Given the description of an element on the screen output the (x, y) to click on. 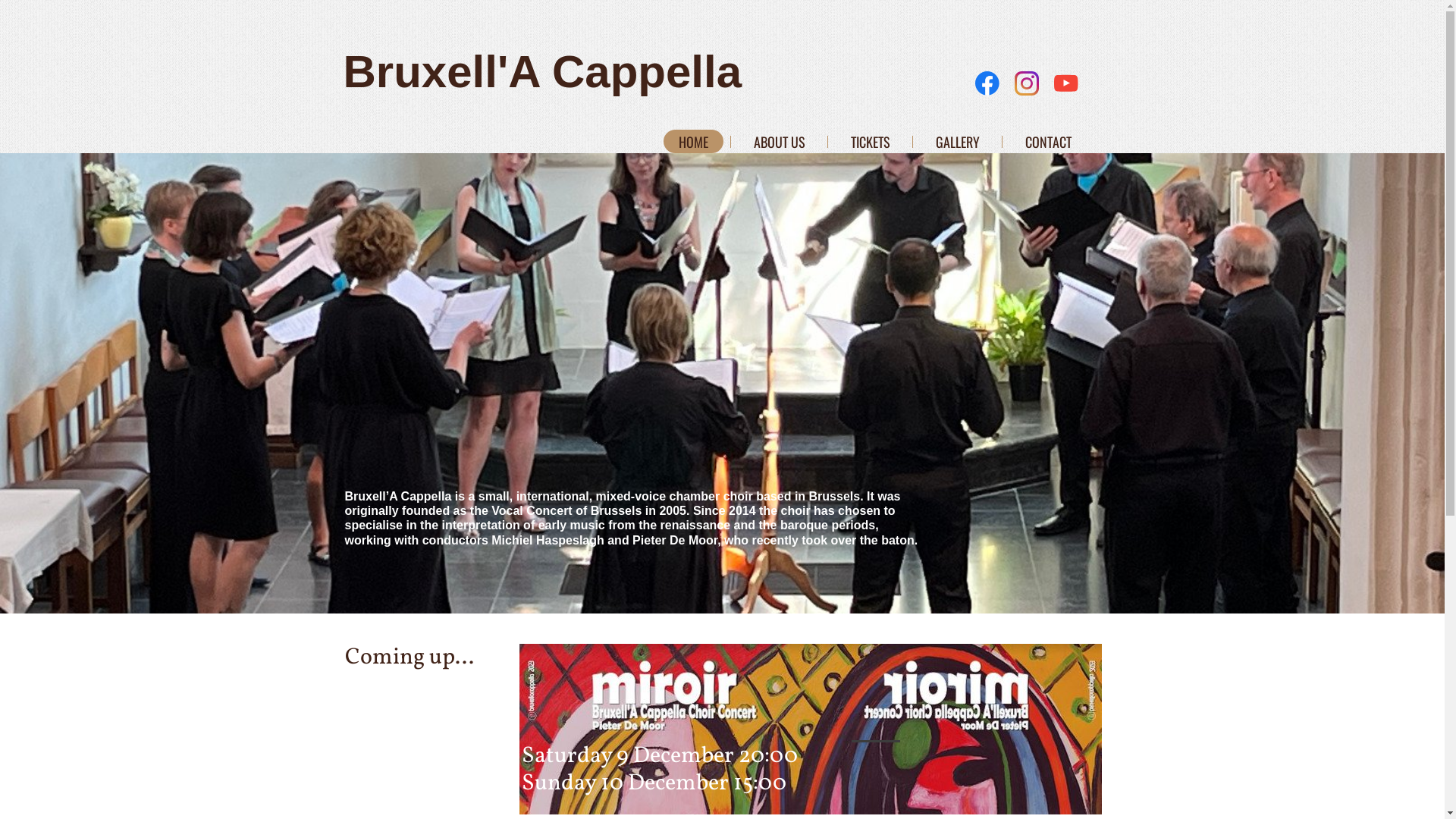
ABOUT US Element type: text (779, 141)
HOME Element type: text (692, 141)
TICKETS Element type: text (870, 141)
CONTACT Element type: text (1048, 141)
GALLERY Element type: text (957, 141)
